Given the description of an element on the screen output the (x, y) to click on. 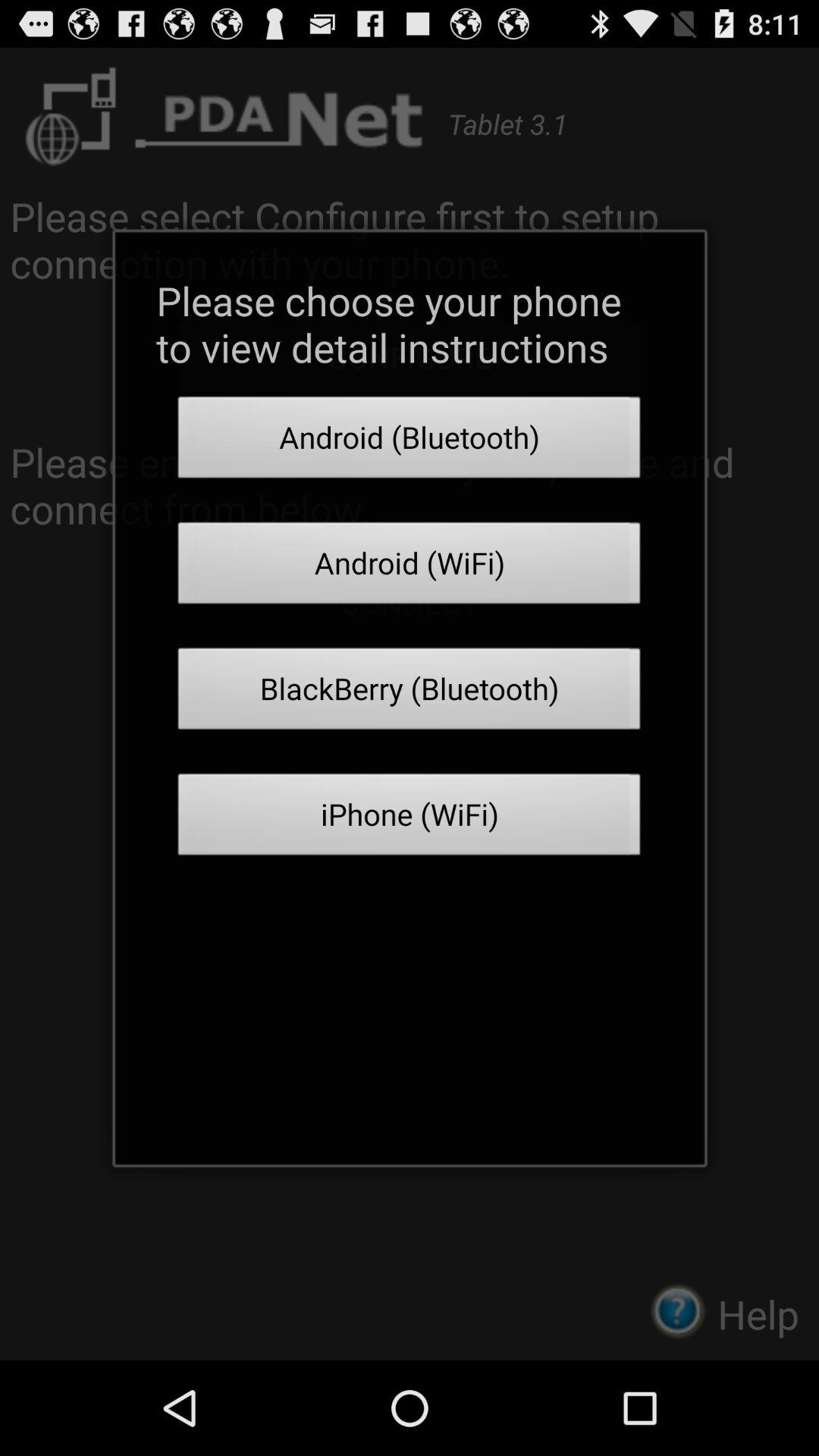
launch the icon below the android (wifi) (409, 693)
